Given the description of an element on the screen output the (x, y) to click on. 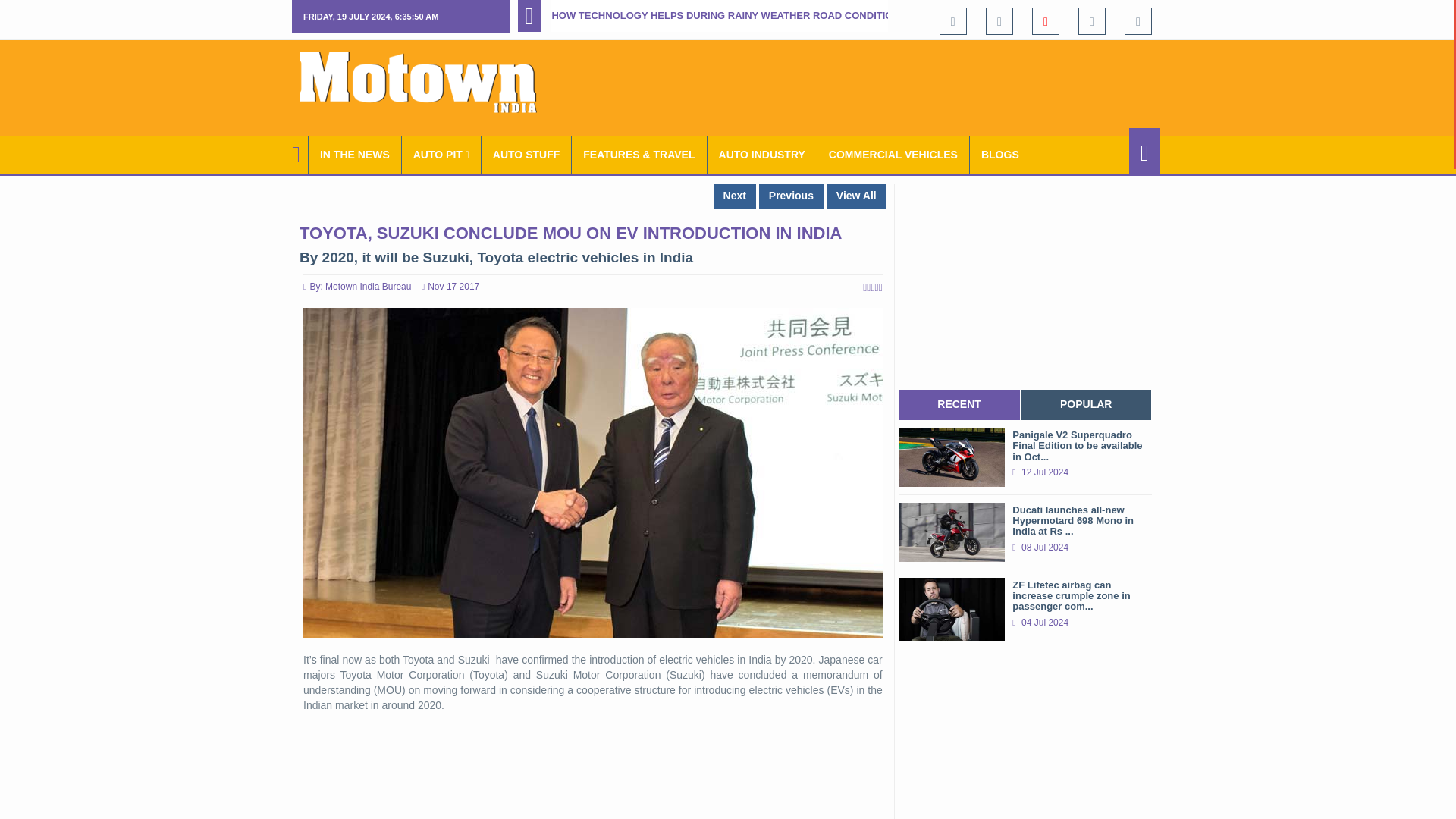
Motown India on Instagram (1091, 21)
BLOGS (999, 154)
AUTO INDUSTRY (761, 154)
COMMERCIAL VEHICLES (892, 154)
Blogs (999, 154)
Previous (791, 196)
AUTO STUFF (526, 154)
How technology helps during rainy weather road conditions (728, 15)
Next (734, 196)
View All Auto-Pit - Motown India (441, 154)
Advertisement (884, 85)
MotownIndia (427, 81)
HOW TECHNOLOGY HELPS DURING RAINY WEATHER ROAD CONDITIONS (728, 15)
Motown India on LinkedIn (1137, 21)
AUTO INDUSTRY by Motown India (761, 154)
